Given the description of an element on the screen output the (x, y) to click on. 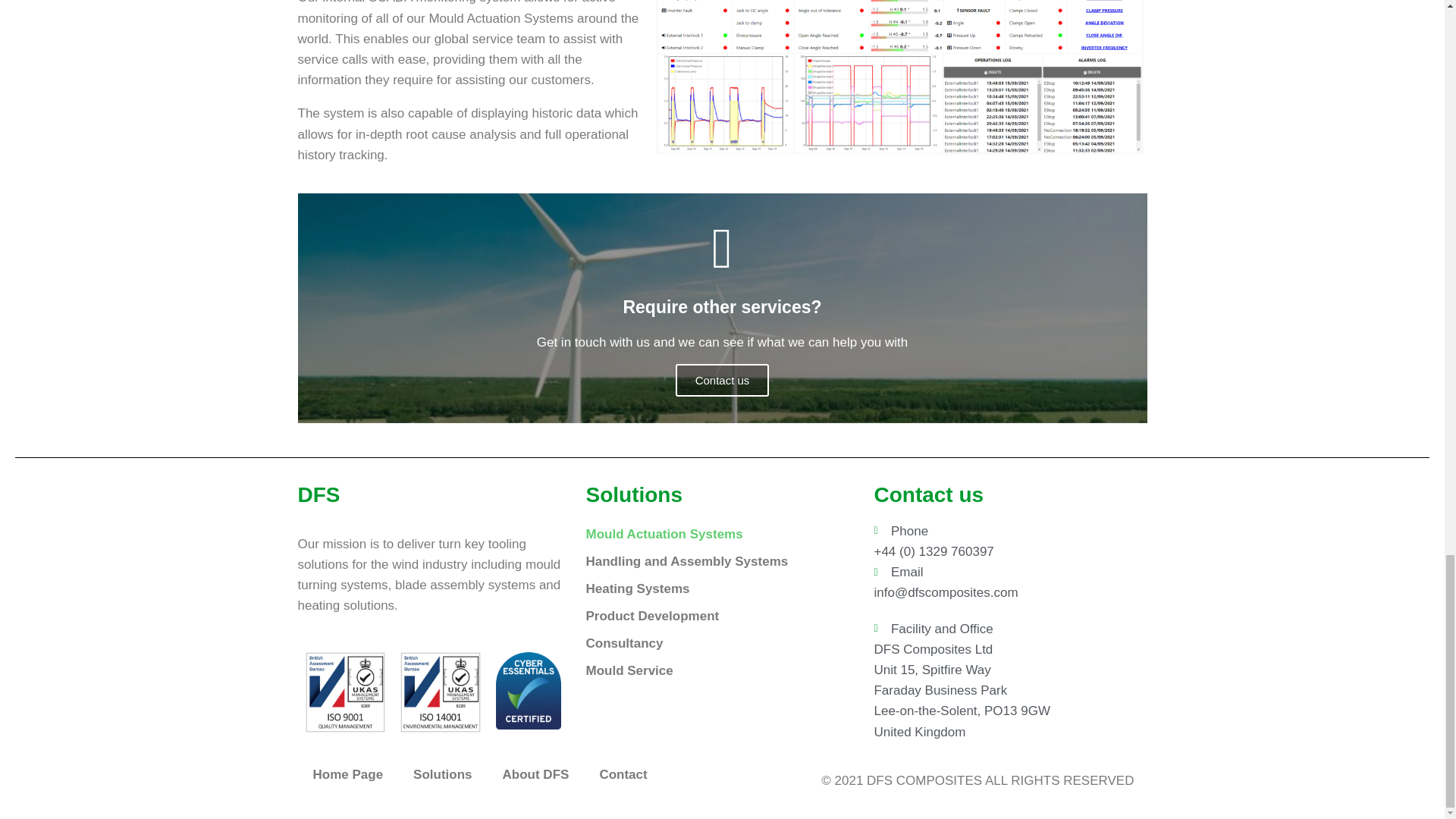
Product Development (714, 615)
Mould Service (714, 670)
Solutions (441, 774)
Consultancy (714, 643)
Heating Systems (714, 588)
Handling and Assembly Systems (714, 561)
About DFS (536, 774)
Home Page (347, 774)
Mould Actuation Systems (714, 533)
Contact us (722, 379)
